Given the description of an element on the screen output the (x, y) to click on. 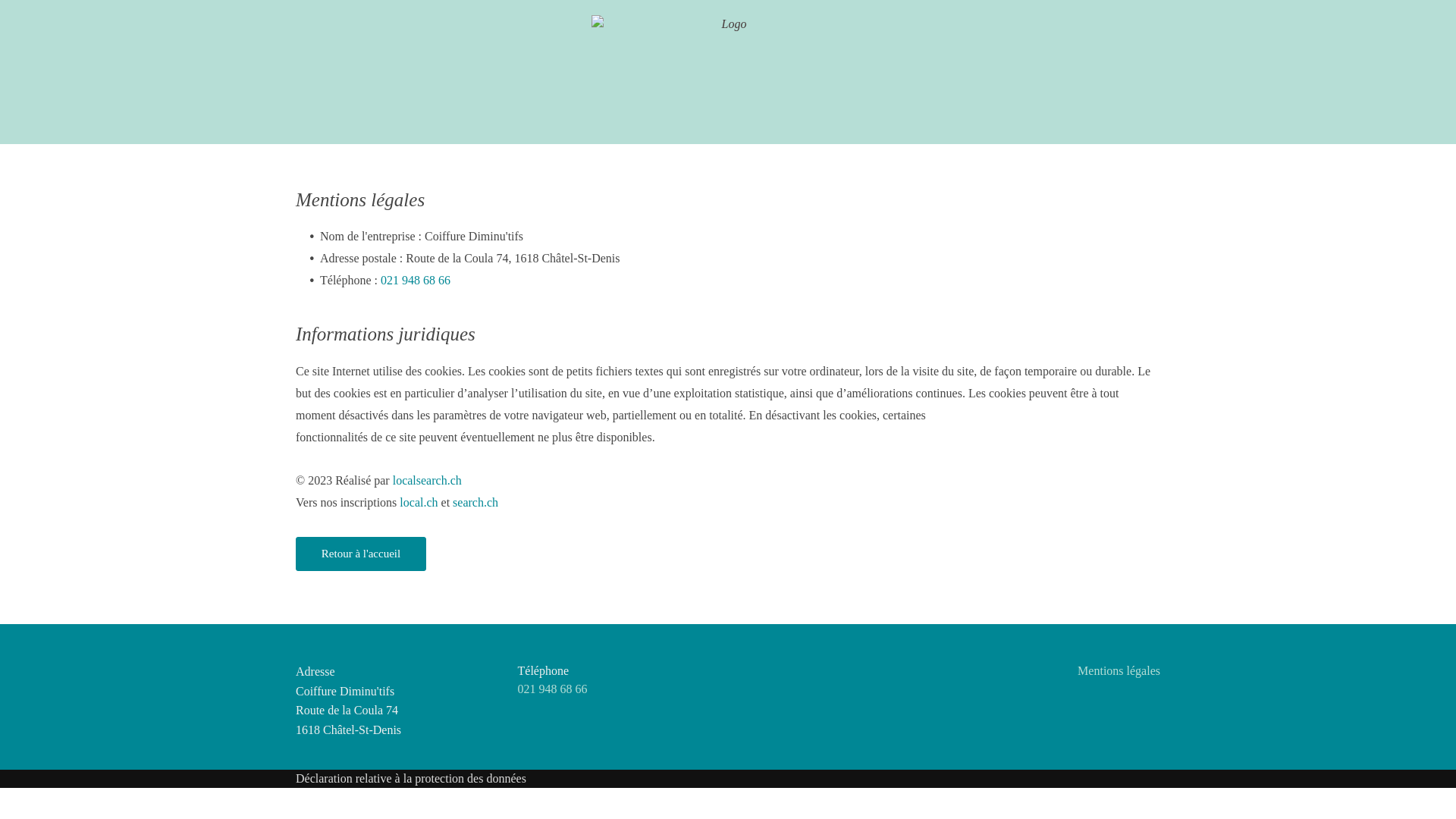
localsearch.ch Element type: text (426, 479)
local.ch Element type: text (418, 501)
021 948 68 66 Element type: text (551, 688)
search.ch Element type: text (475, 501)
021 948 68 66 Element type: text (415, 279)
